Given the description of an element on the screen output the (x, y) to click on. 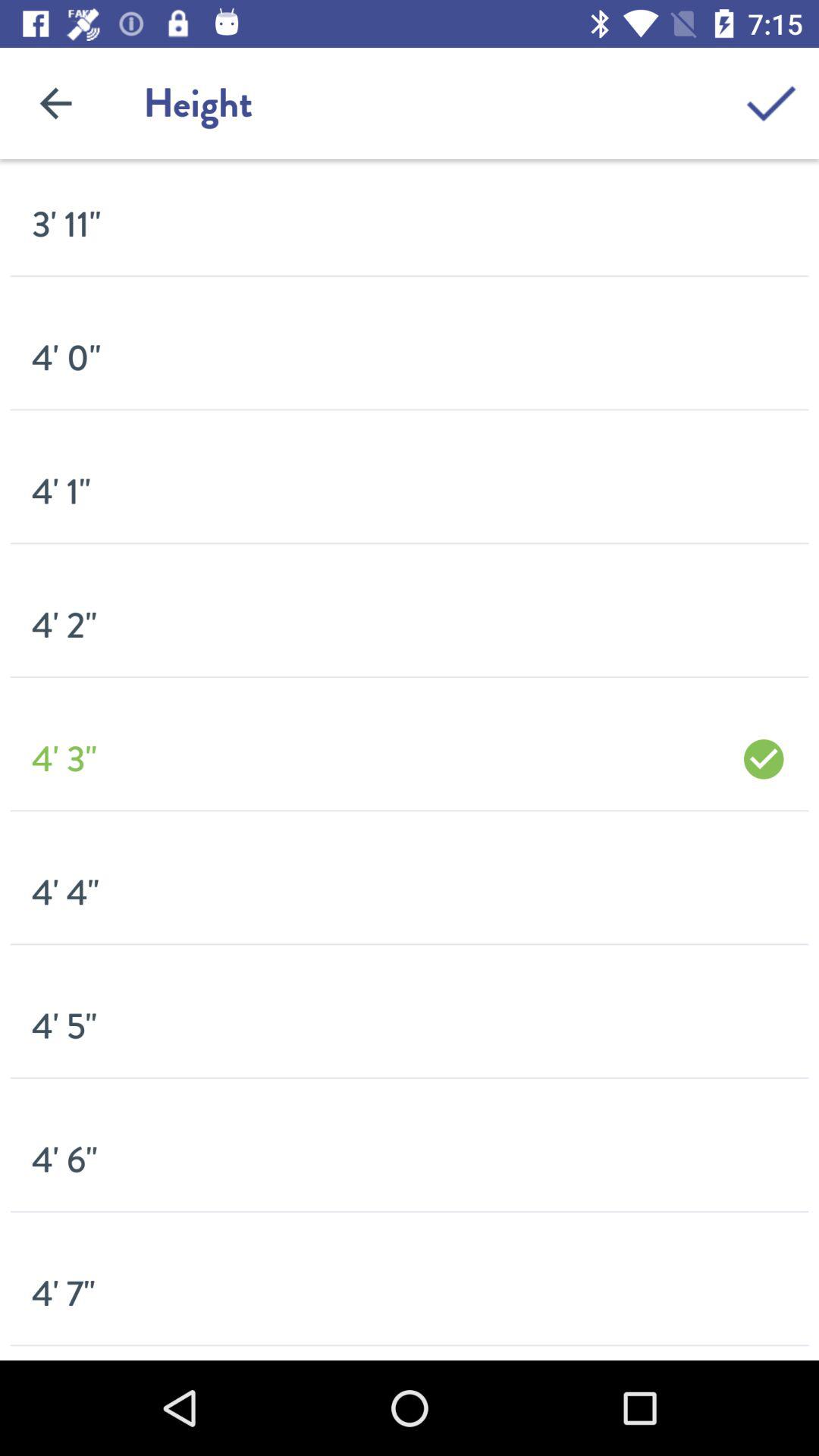
tap the item to the right of the height item (771, 103)
